Given the description of an element on the screen output the (x, y) to click on. 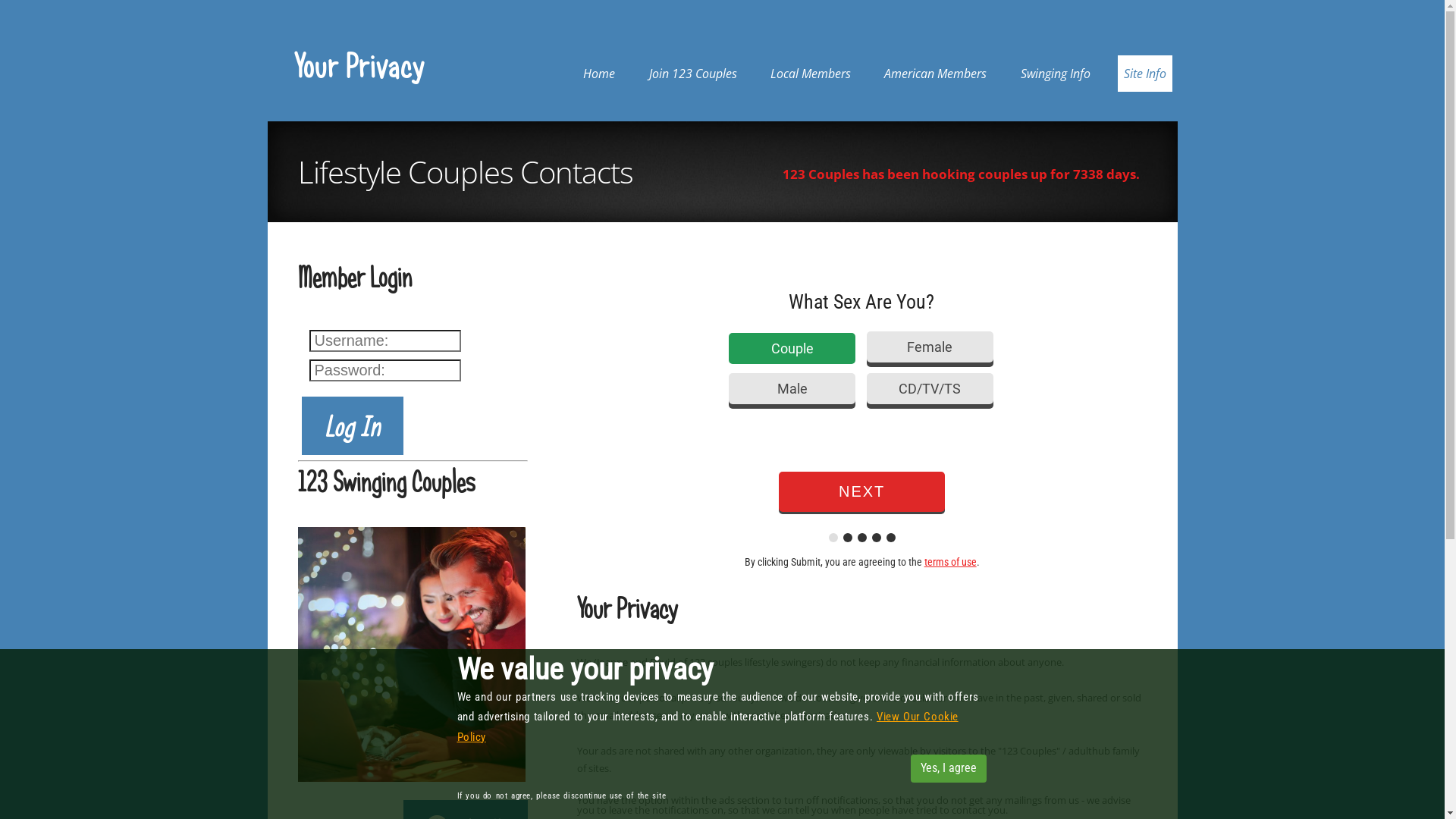
CD/TV/TS Element type: text (929, 388)
2 Element type: text (1205, 346)
Swinging Info Element type: text (1055, 73)
Log In Element type: text (352, 425)
Your Privacy Element type: text (359, 65)
Home Element type: text (599, 73)
terms of use Element type: text (950, 561)
Yes, I agree Element type: text (947, 768)
Local Members Element type: text (810, 73)
4 Element type: text (1067, 346)
Female Element type: text (929, 346)
Join 123 Couples Element type: text (693, 73)
American Members Element type: text (935, 73)
Couple Element type: text (791, 348)
Site Info Element type: text (1144, 73)
Male Element type: text (791, 388)
16 Element type: text (1205, 388)
View Our Cookie Policy Element type: text (706, 726)
1 Element type: text (1067, 388)
